Given the description of an element on the screen output the (x, y) to click on. 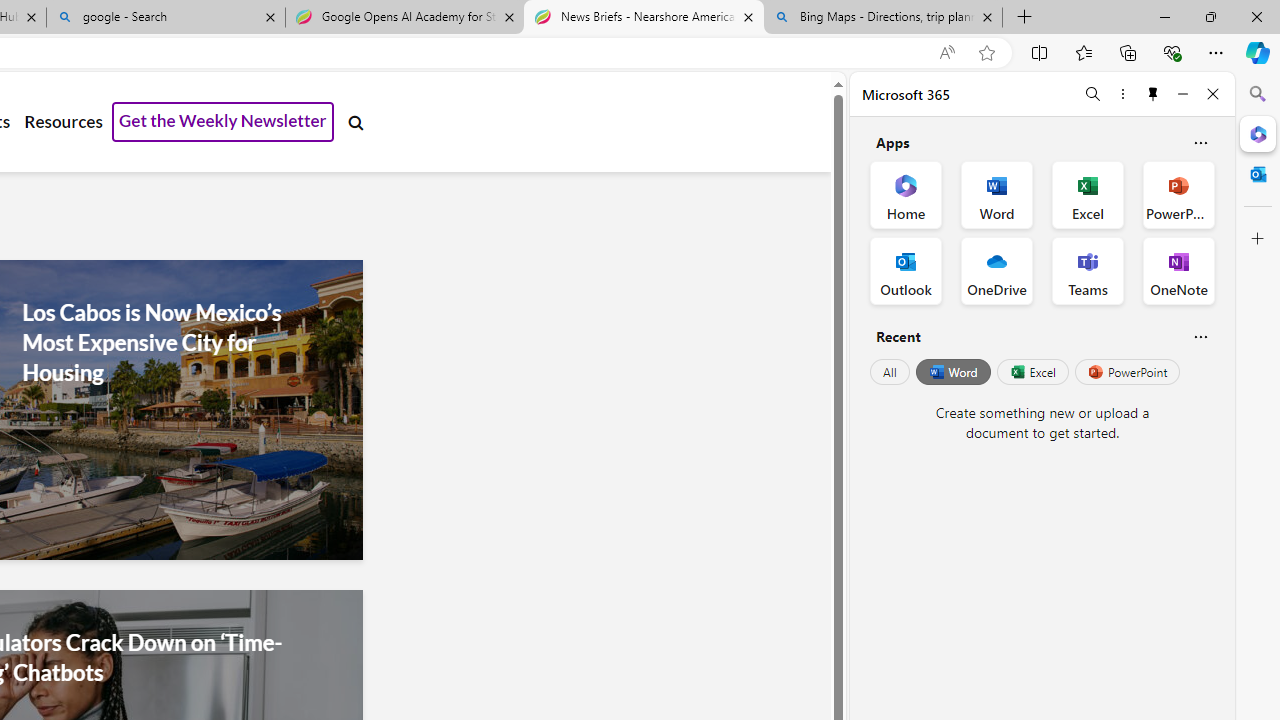
Get the Weekly Newsletter (223, 121)
Word Office App (996, 194)
Teams Office App (1087, 270)
All (890, 372)
Get the Weekly Newsletter (223, 121)
